Given the description of an element on the screen output the (x, y) to click on. 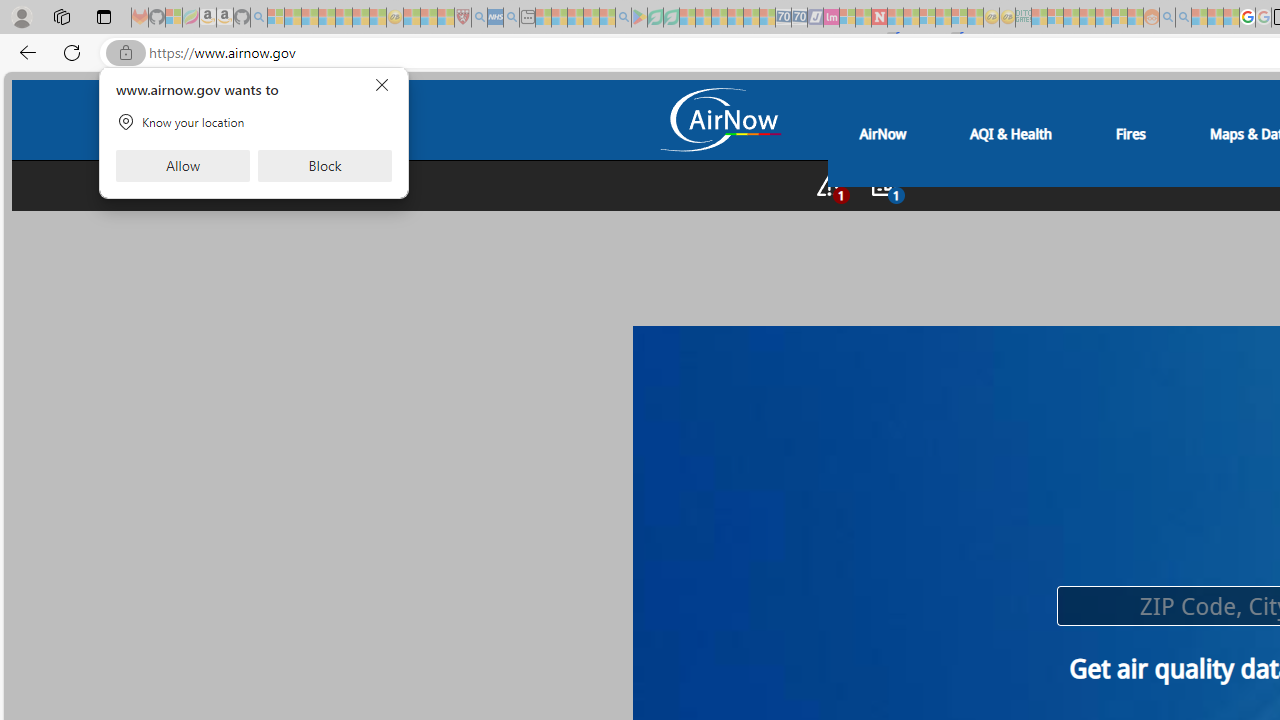
AutomationID: nav-announcements-toggle (883, 185)
Air Now Logo (719, 121)
